Given the description of an element on the screen output the (x, y) to click on. 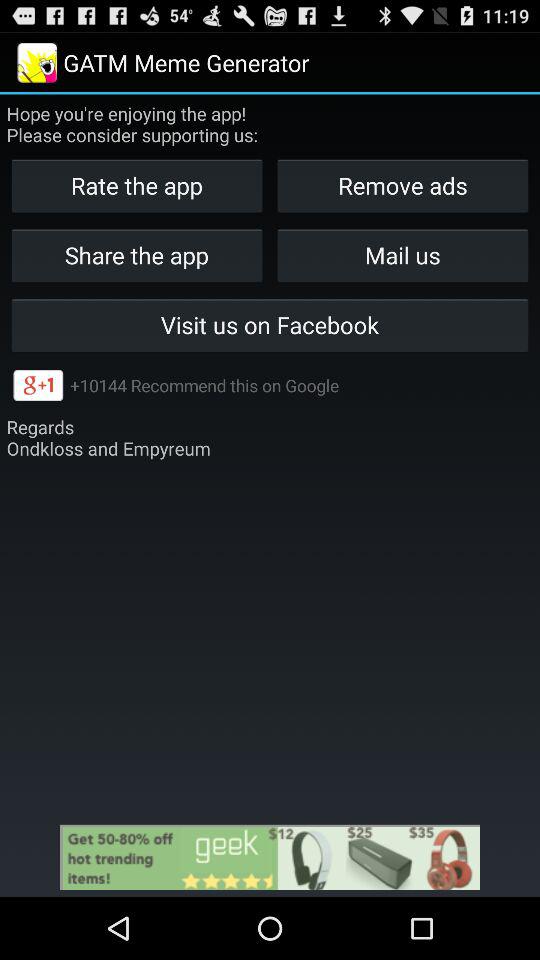
turn on the icon below the rate the app (402, 254)
